Given the description of an element on the screen output the (x, y) to click on. 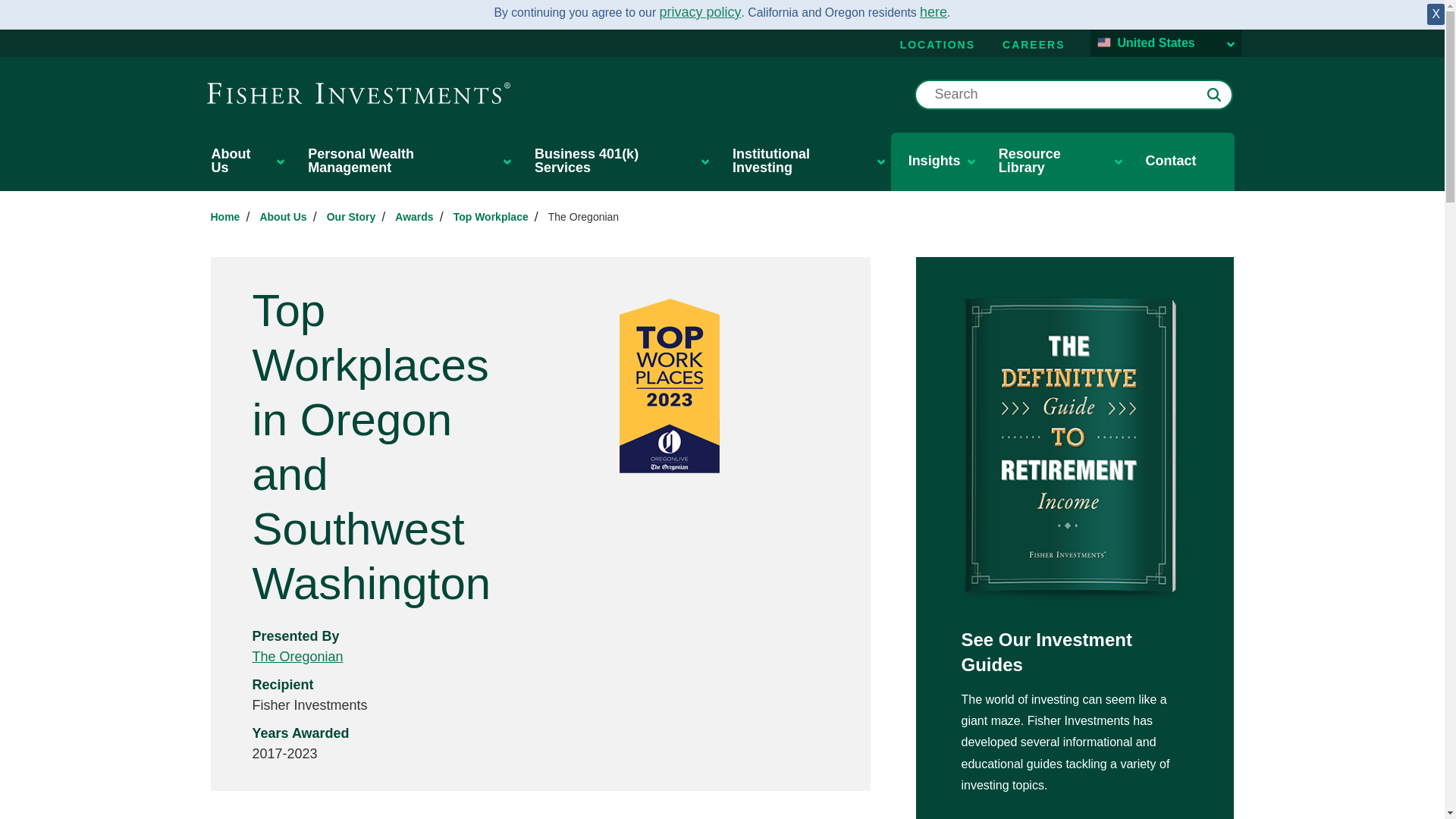
here (933, 11)
LOCATIONS (937, 44)
our-story (350, 216)
To Home Page (357, 93)
Insert a query. Press enter to send (1073, 94)
privacy policy (700, 11)
awards (413, 216)
Top-Workplace (583, 216)
about (282, 216)
Home (225, 216)
United States (1166, 43)
CAREERS (1033, 44)
tw (490, 216)
